Given the description of an element on the screen output the (x, y) to click on. 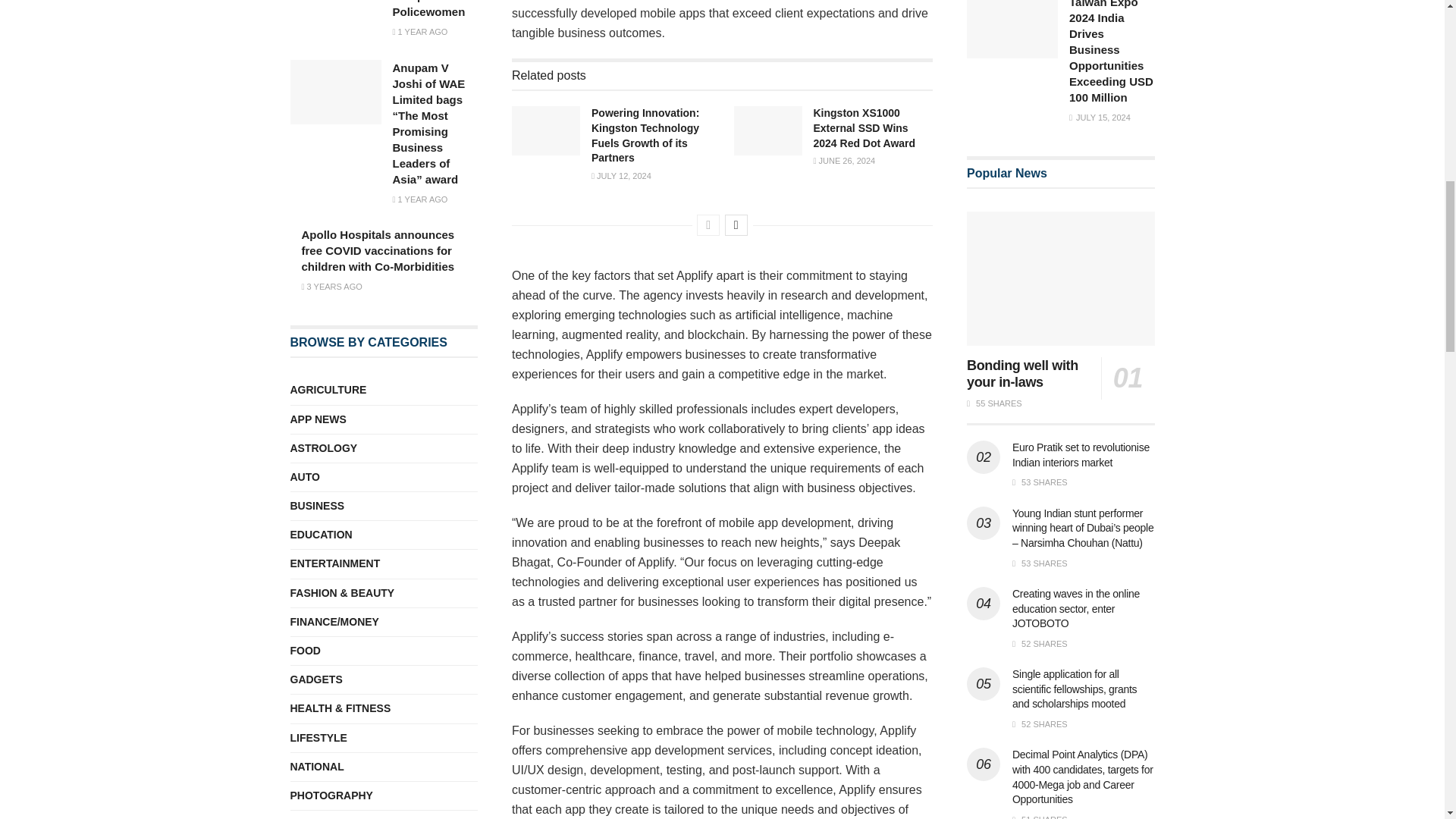
Previous (708, 224)
Next (736, 224)
